Given the description of an element on the screen output the (x, y) to click on. 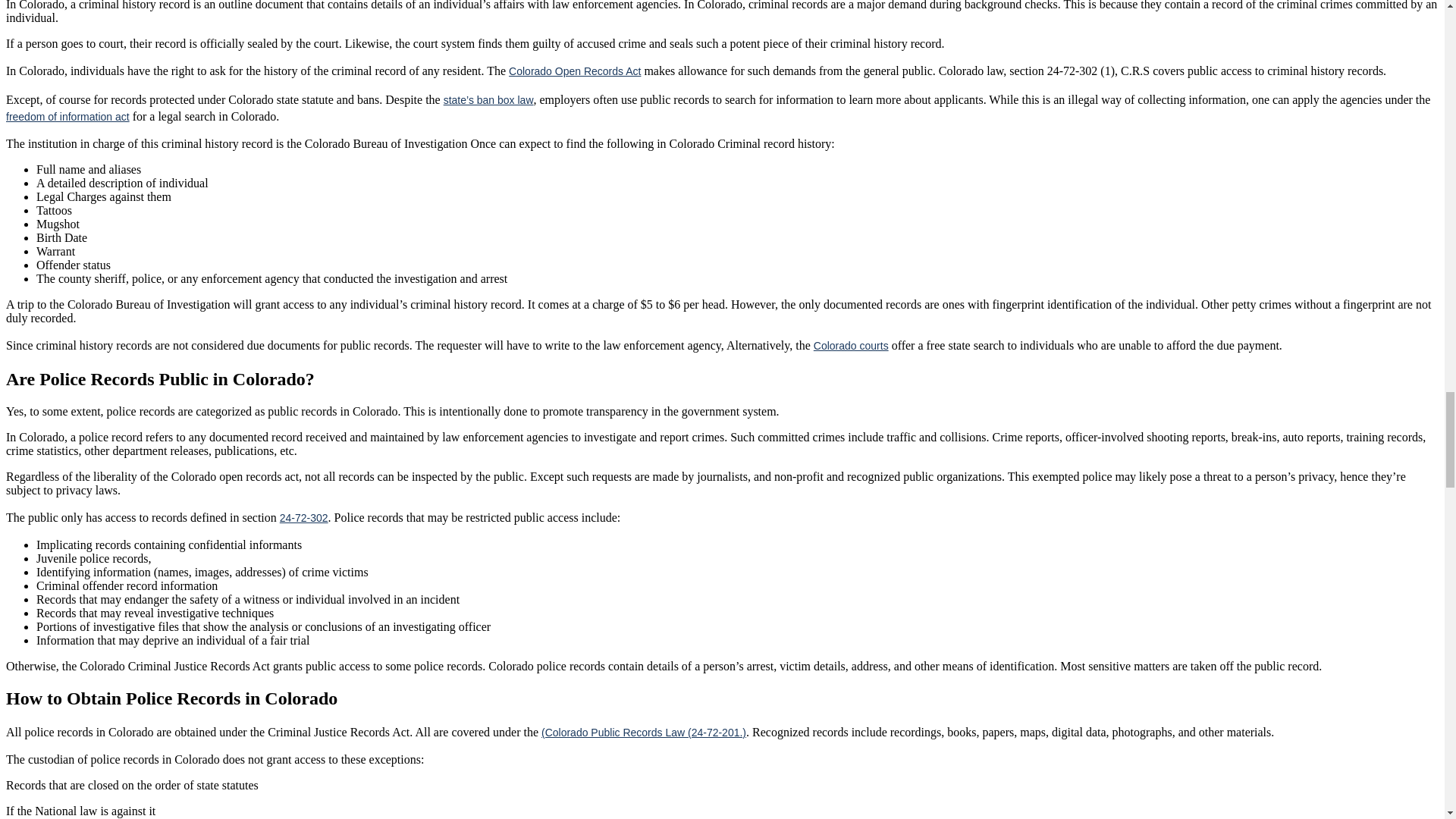
Colorado Open Records Act (574, 70)
freedom of information act (67, 116)
24-72-302 (304, 517)
Colorado courts (850, 345)
